Given the description of an element on the screen output the (x, y) to click on. 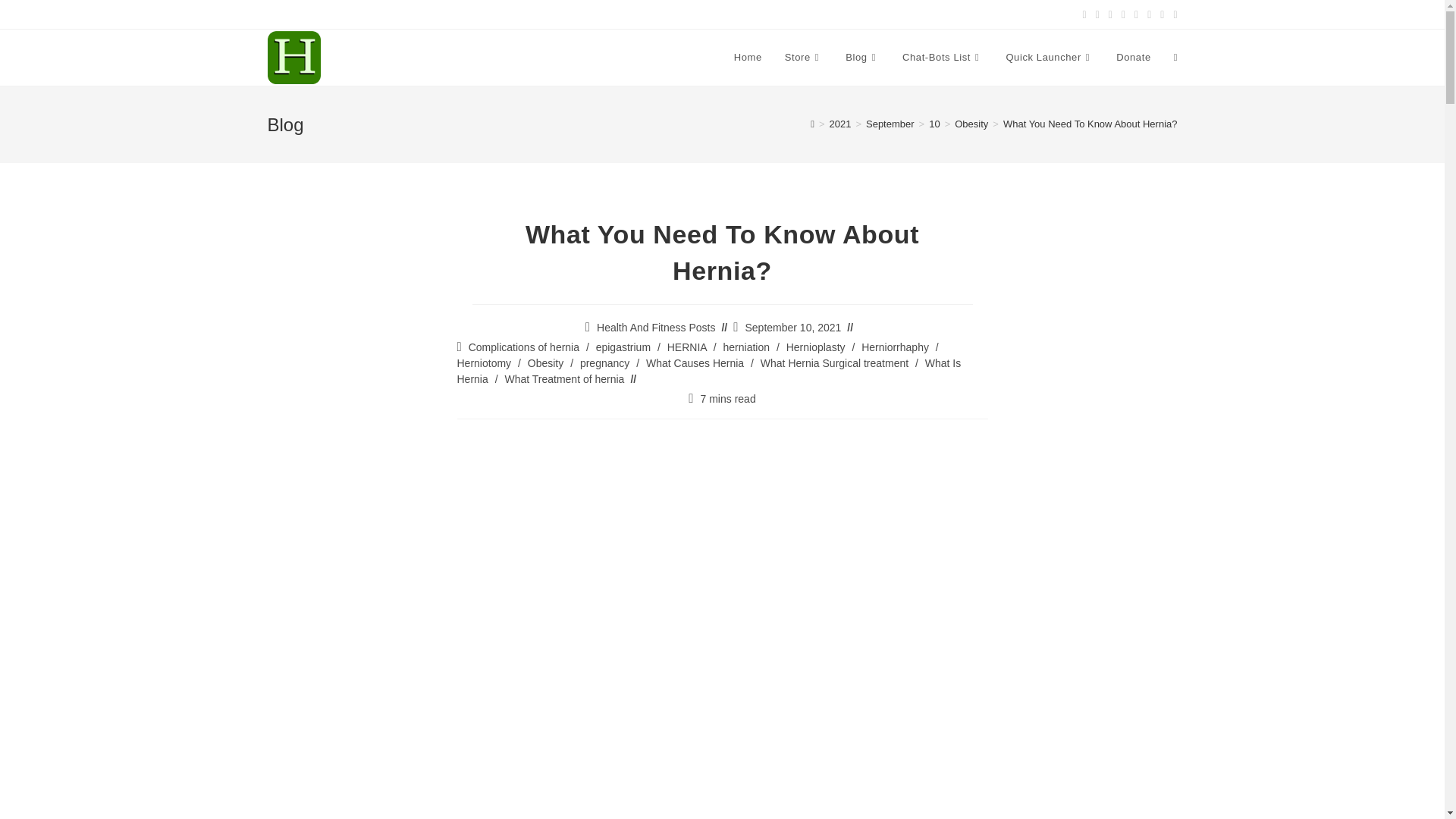
Browser Extension (1049, 57)
Store (803, 57)
Donate (1133, 57)
Blog (862, 57)
Quick Launcher (1049, 57)
Chat-Bots List (942, 57)
Posts by Health And Fitness Posts (655, 327)
Home (747, 57)
